Given the description of an element on the screen output the (x, y) to click on. 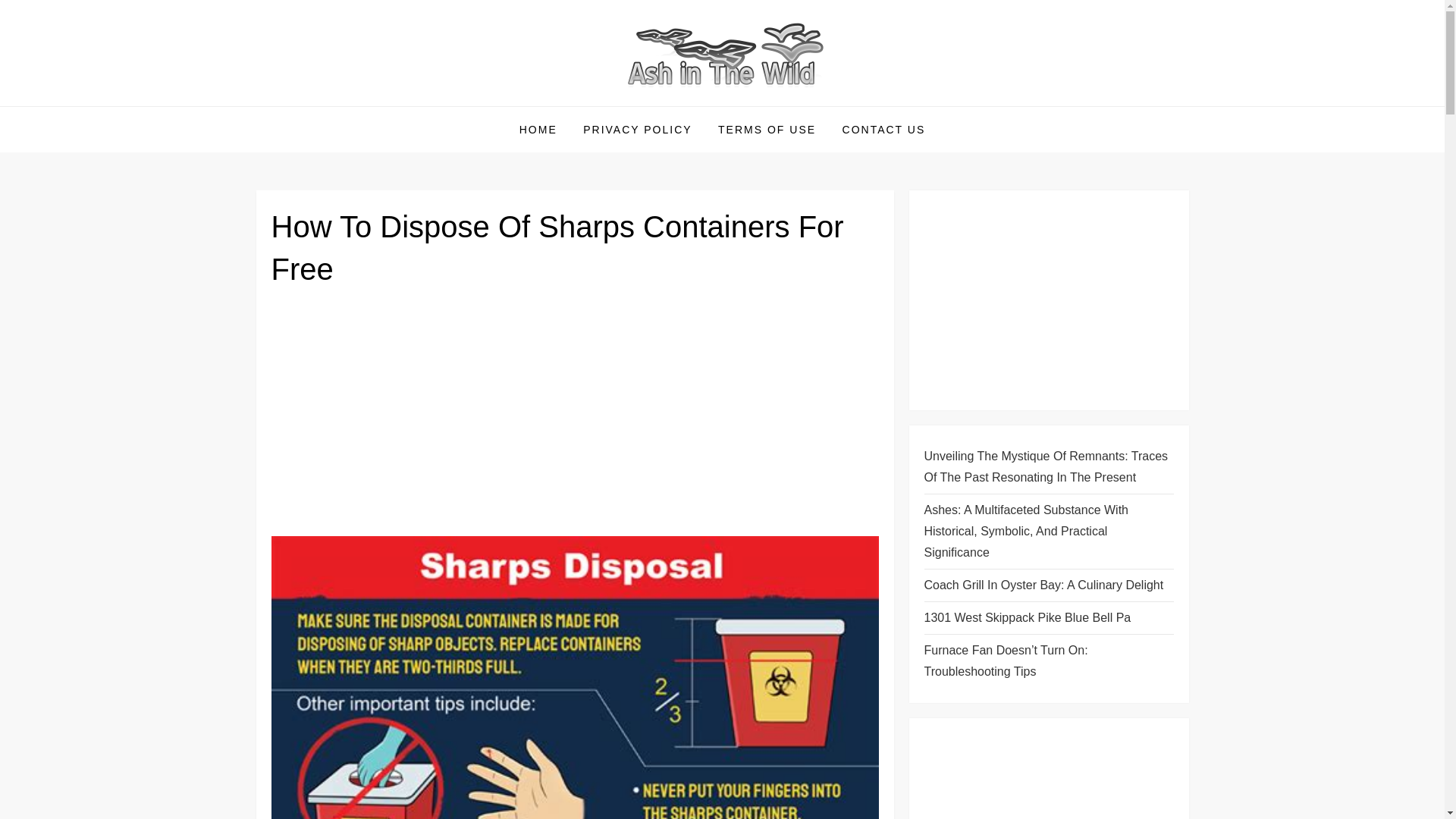
Advertisement (574, 418)
PRIVACY POLICY (637, 129)
Coach Grill In Oyster Bay: A Culinary Delight (1043, 585)
TERMS OF USE (766, 129)
Advertisement (1048, 299)
Ash in The Wild (361, 105)
HOME (538, 129)
Advertisement (1048, 776)
CONTACT US (884, 129)
1301 West Skippack Pike Blue Bell Pa (1027, 617)
